Given the description of an element on the screen output the (x, y) to click on. 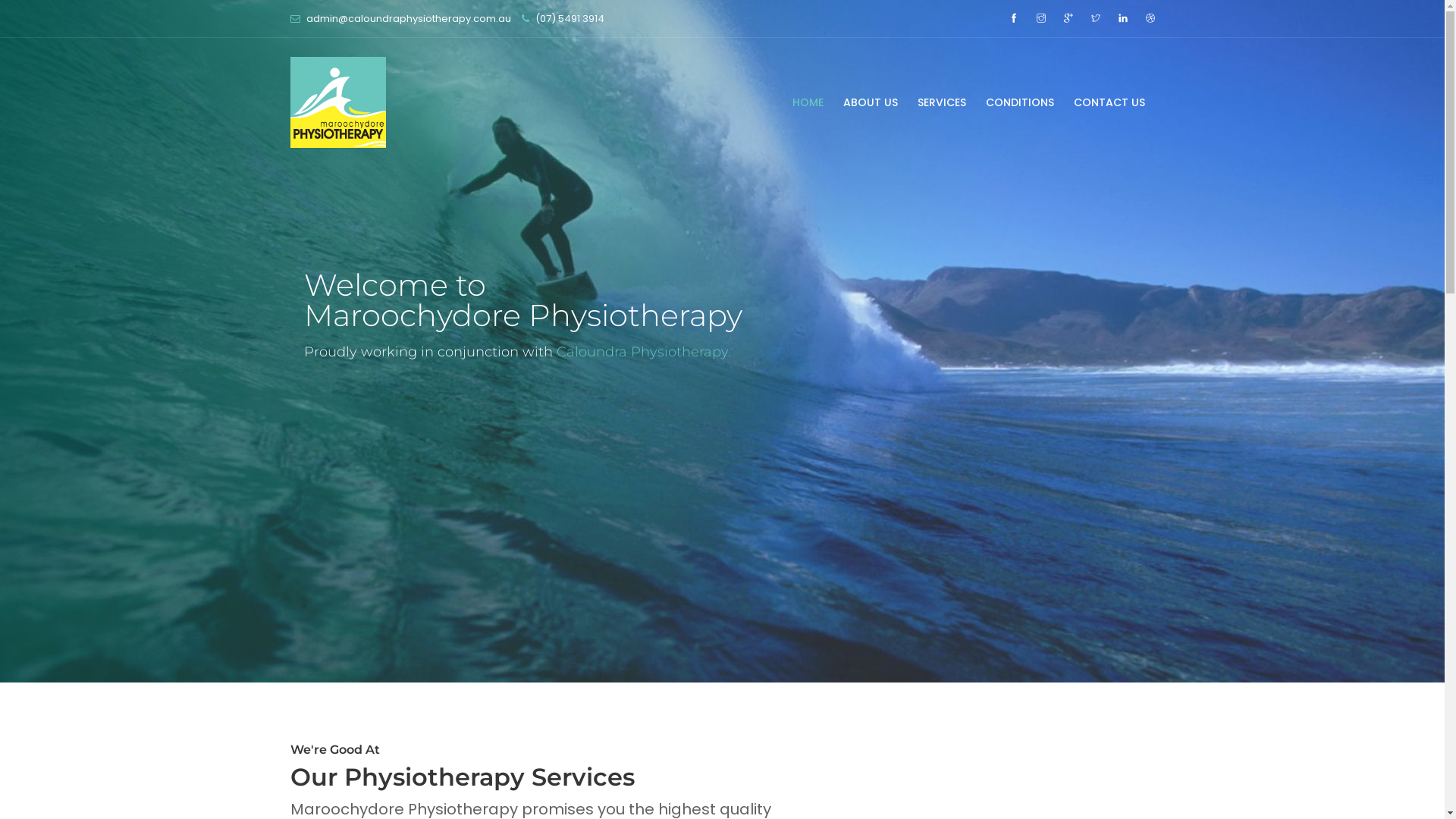
ABOUT US Element type: text (869, 101)
CONDITIONS Element type: text (1019, 101)
(07) 5491 3914 Element type: text (569, 18)
Caloundra Physiotherapy. Element type: text (643, 339)
HOME Element type: text (807, 101)
CONTACT US Element type: text (1108, 101)
SERVICES Element type: text (940, 101)
